Given the description of an element on the screen output the (x, y) to click on. 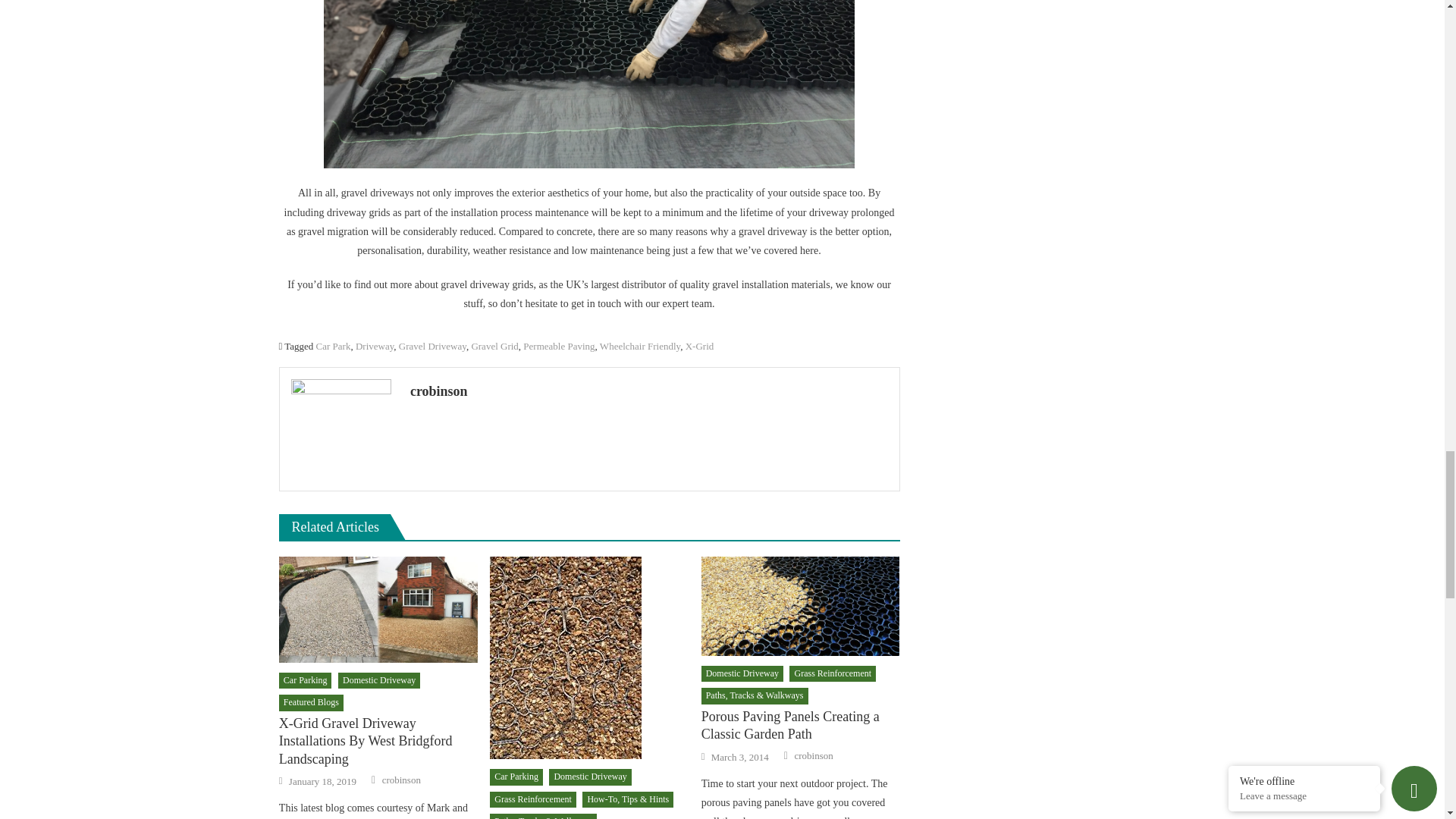
Permeable Paving (558, 346)
crobinson (649, 391)
Gravel Grid (494, 346)
Gravel Driveway (431, 346)
X-Grid (699, 346)
Wheelchair Friendly (639, 346)
Porous Paving Panels Creating a Classic Garden Path (800, 606)
Car Park (332, 346)
Driveway (374, 346)
